Given the description of an element on the screen output the (x, y) to click on. 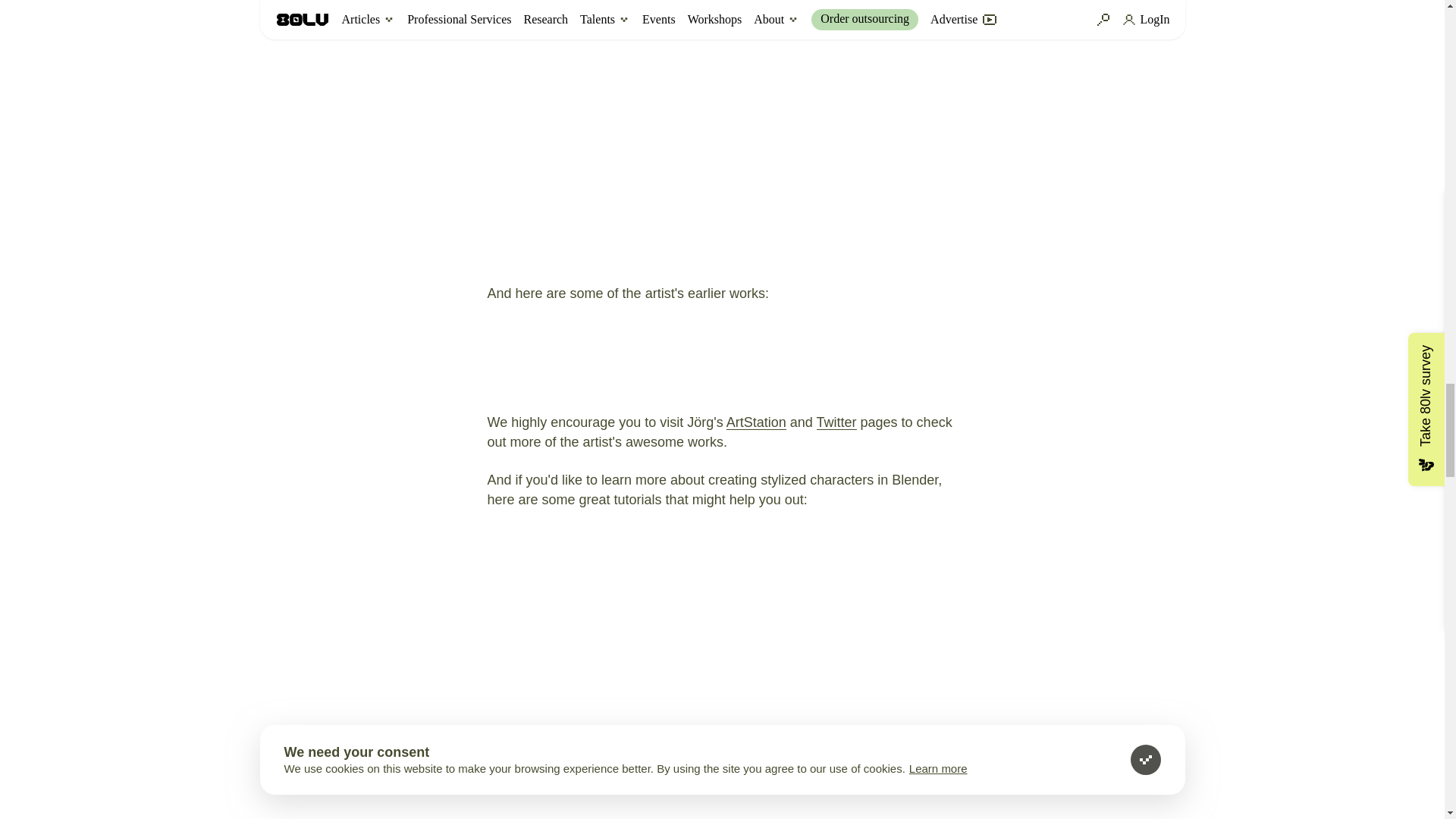
ArtStation (756, 421)
Twitter (836, 421)
